Given the description of an element on the screen output the (x, y) to click on. 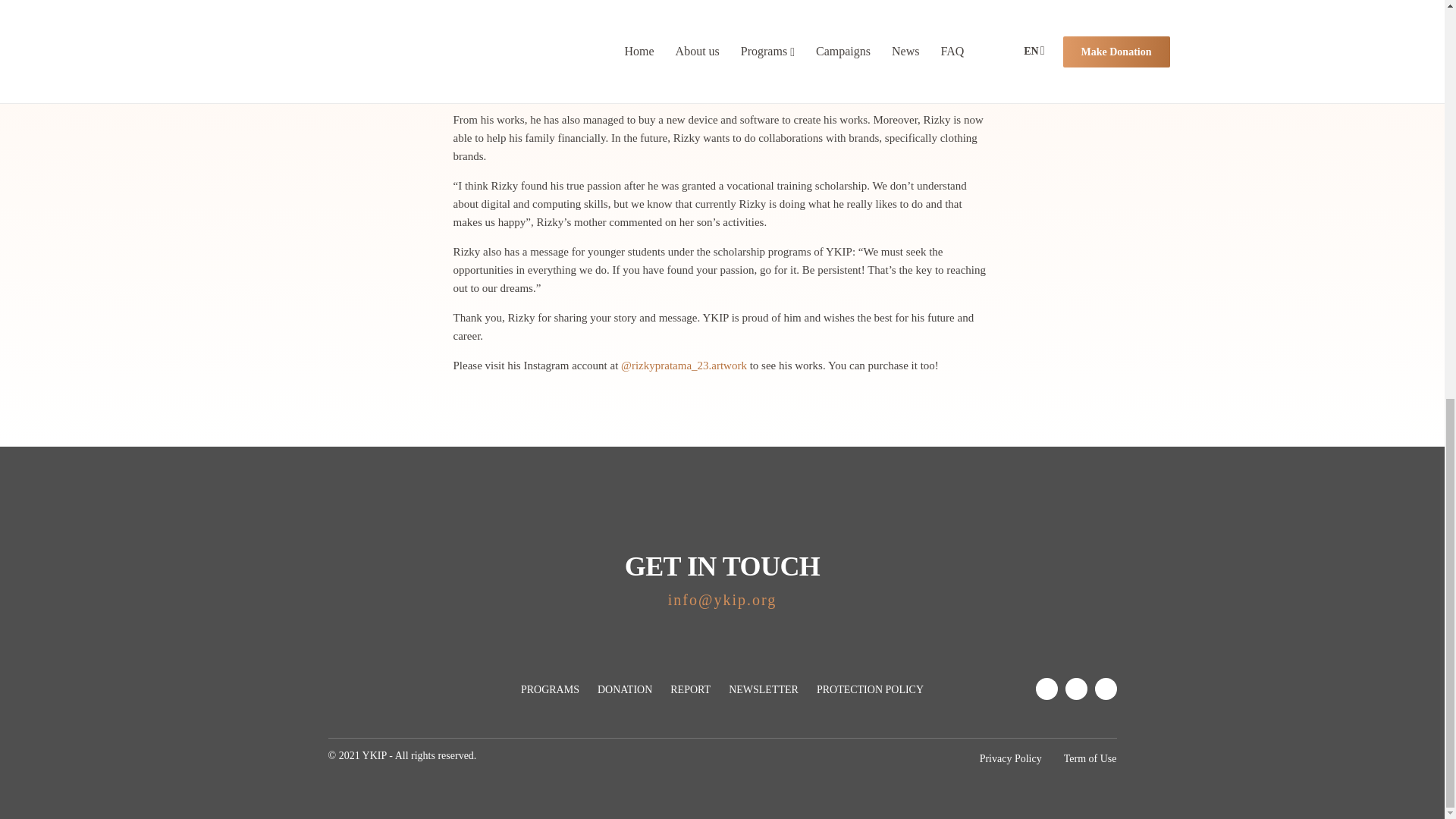
PROGRAMS (550, 689)
Term of Use (1090, 758)
Privacy Policy (1010, 758)
REPORT (689, 689)
DONATION (624, 689)
PROTECTION POLICY (869, 689)
NEWSLETTER (763, 689)
